Given the description of an element on the screen output the (x, y) to click on. 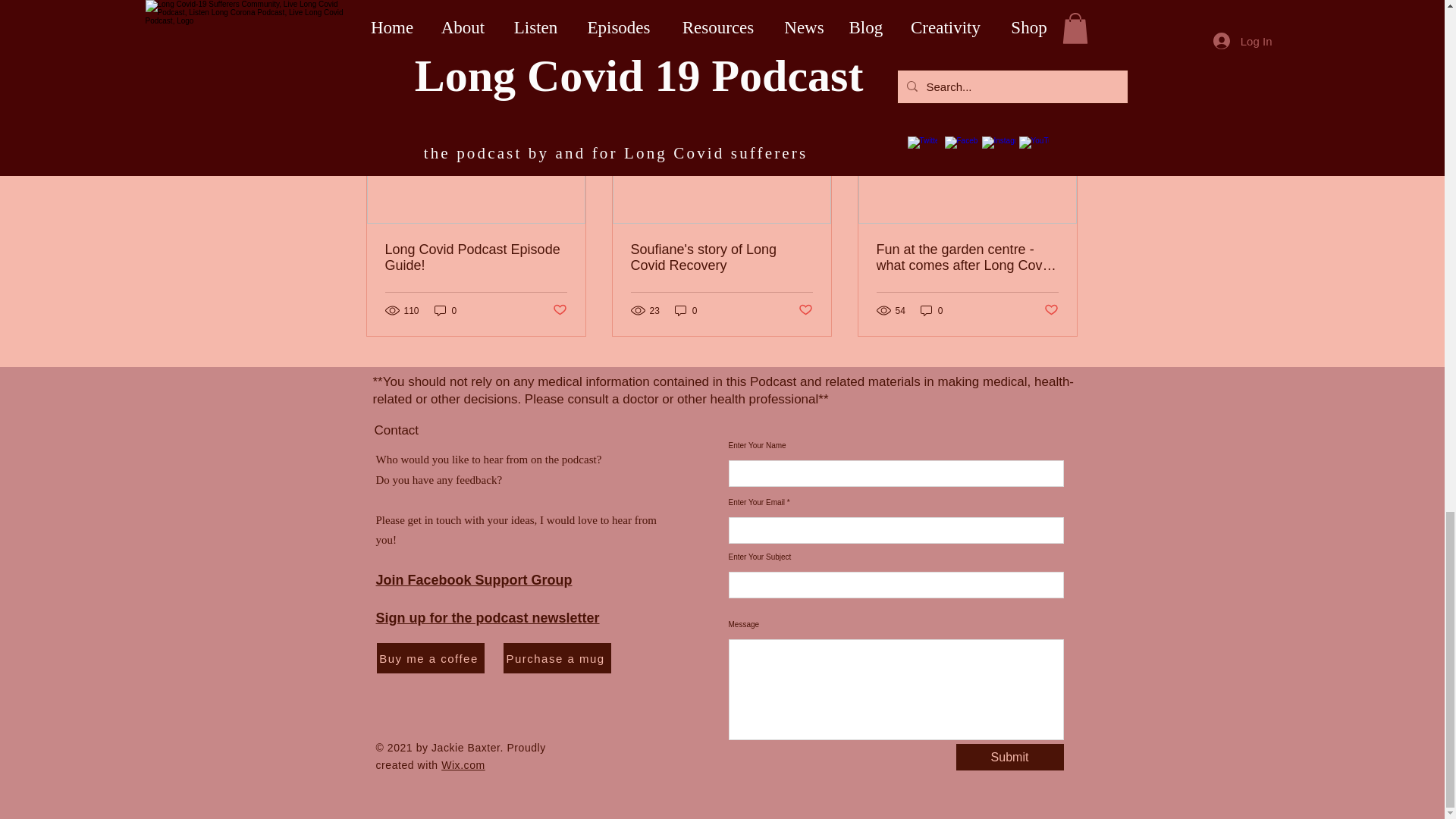
0 (685, 310)
Post not marked as liked (804, 310)
0 (445, 310)
Post not marked as liked (558, 310)
0 (931, 310)
Soufiane's story of Long Covid Recovery (721, 257)
Long Covid Podcast Episode Guide! (476, 257)
See All (1061, 74)
